Given the description of an element on the screen output the (x, y) to click on. 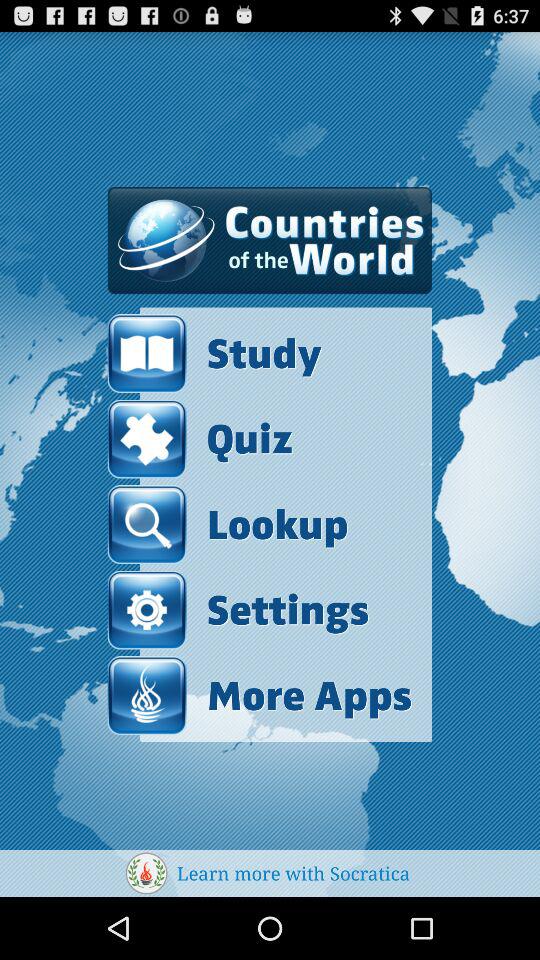
swipe until study item (259, 353)
